Given the description of an element on the screen output the (x, y) to click on. 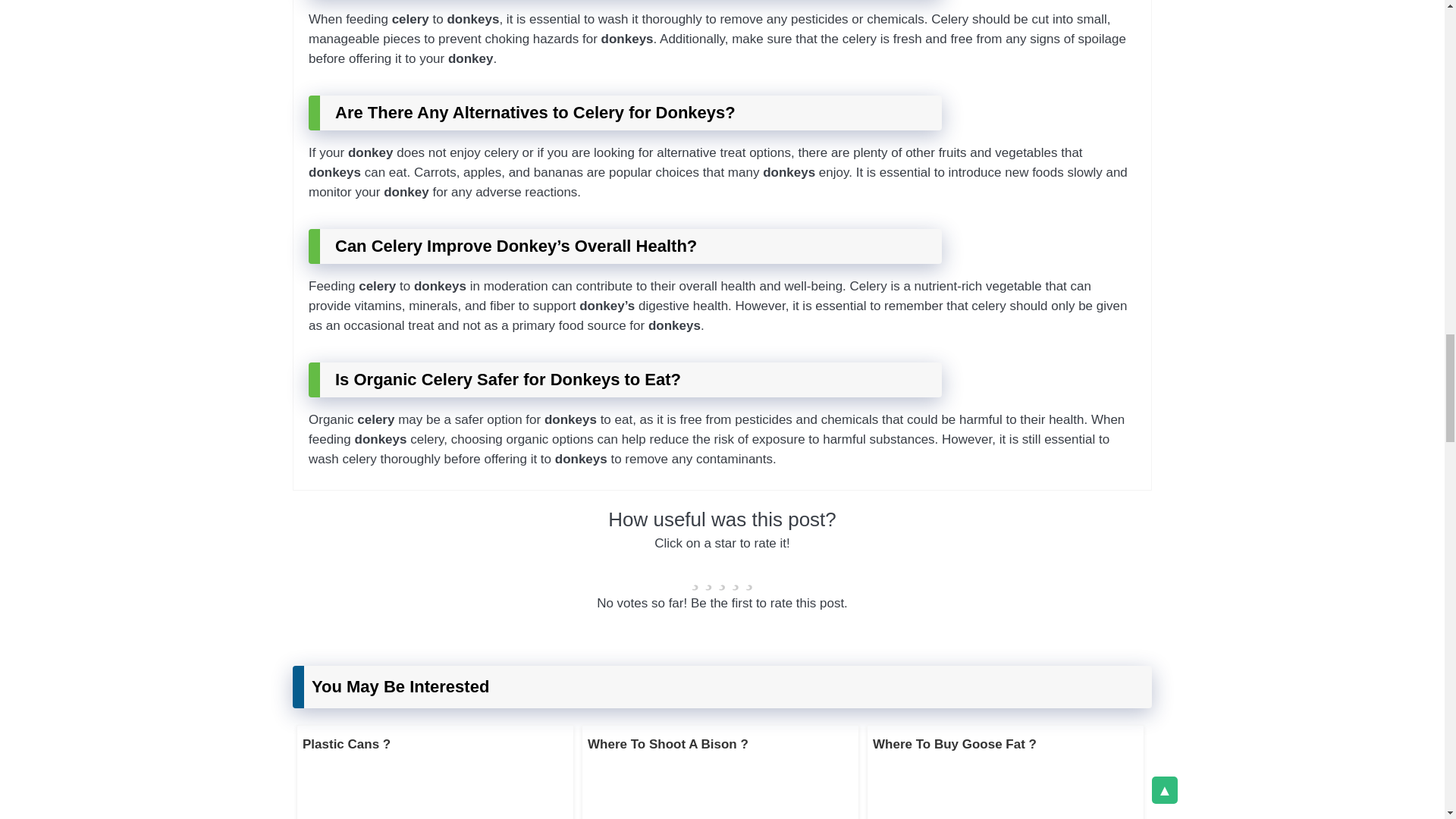
Where To Shoot A Bison ? (668, 744)
Plastic Cans ? (346, 744)
Plastic Cans ? (346, 744)
Where To Shoot A Bison ? (668, 744)
